Given the description of an element on the screen output the (x, y) to click on. 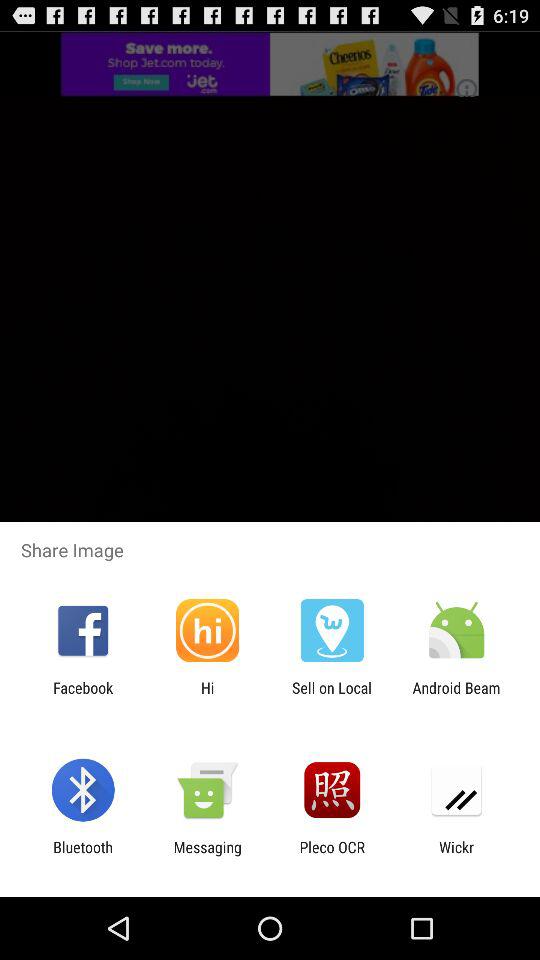
turn on app to the left of messaging item (82, 856)
